Given the description of an element on the screen output the (x, y) to click on. 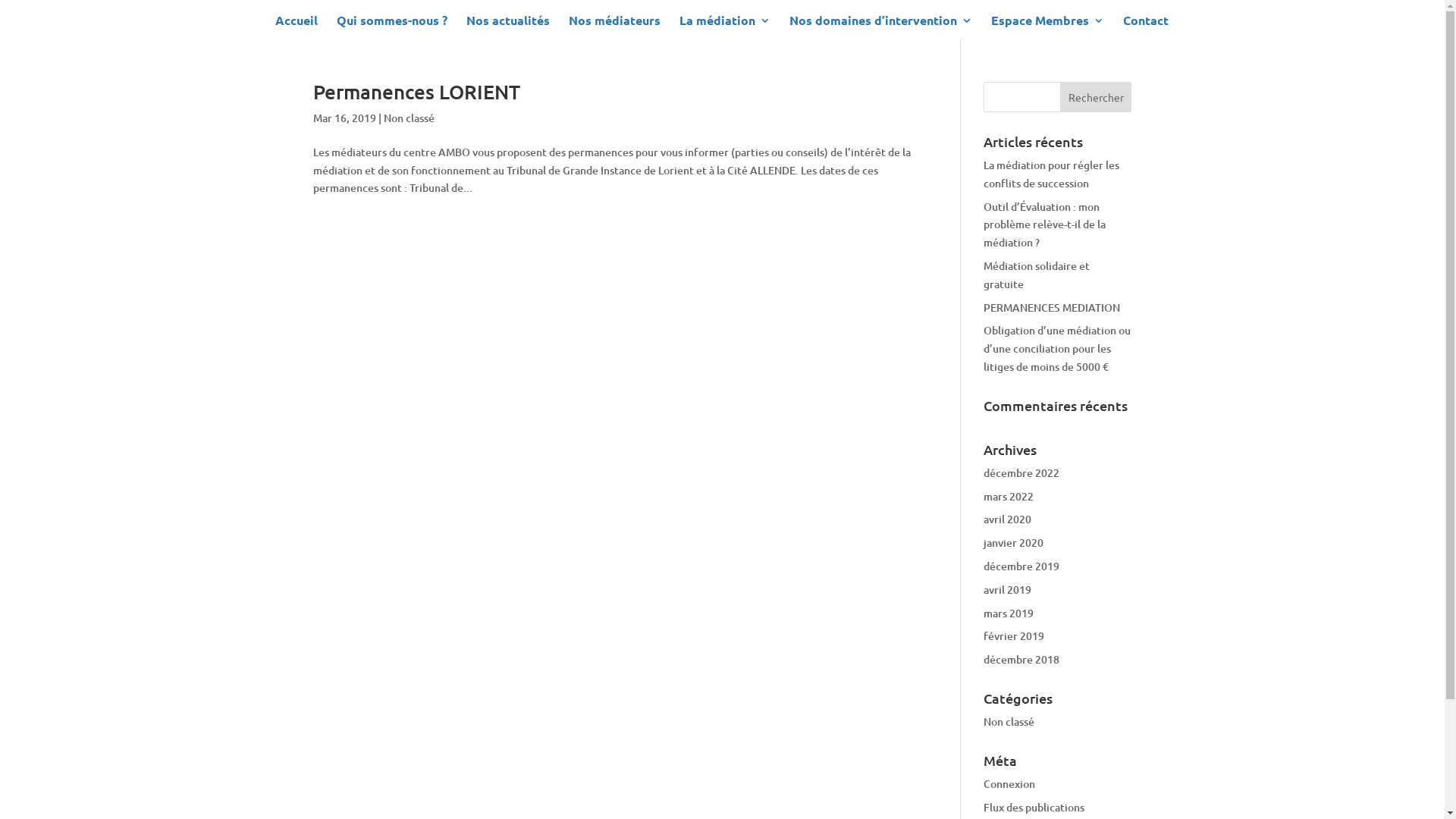
Permanences LORIENT Element type: text (415, 90)
avril 2020 Element type: text (1007, 518)
Qui sommes-nous ? Element type: text (391, 26)
Rechercher Element type: text (1096, 96)
Accueil Element type: text (295, 26)
Contact Element type: text (1144, 26)
PERMANENCES MEDIATION Element type: text (1051, 307)
Espace Membres Element type: text (1046, 26)
avril 2019 Element type: text (1007, 589)
Flux des publications Element type: text (1033, 807)
mars 2022 Element type: text (1008, 496)
Connexion Element type: text (1009, 783)
mars 2019 Element type: text (1008, 612)
janvier 2020 Element type: text (1013, 542)
